Given the description of an element on the screen output the (x, y) to click on. 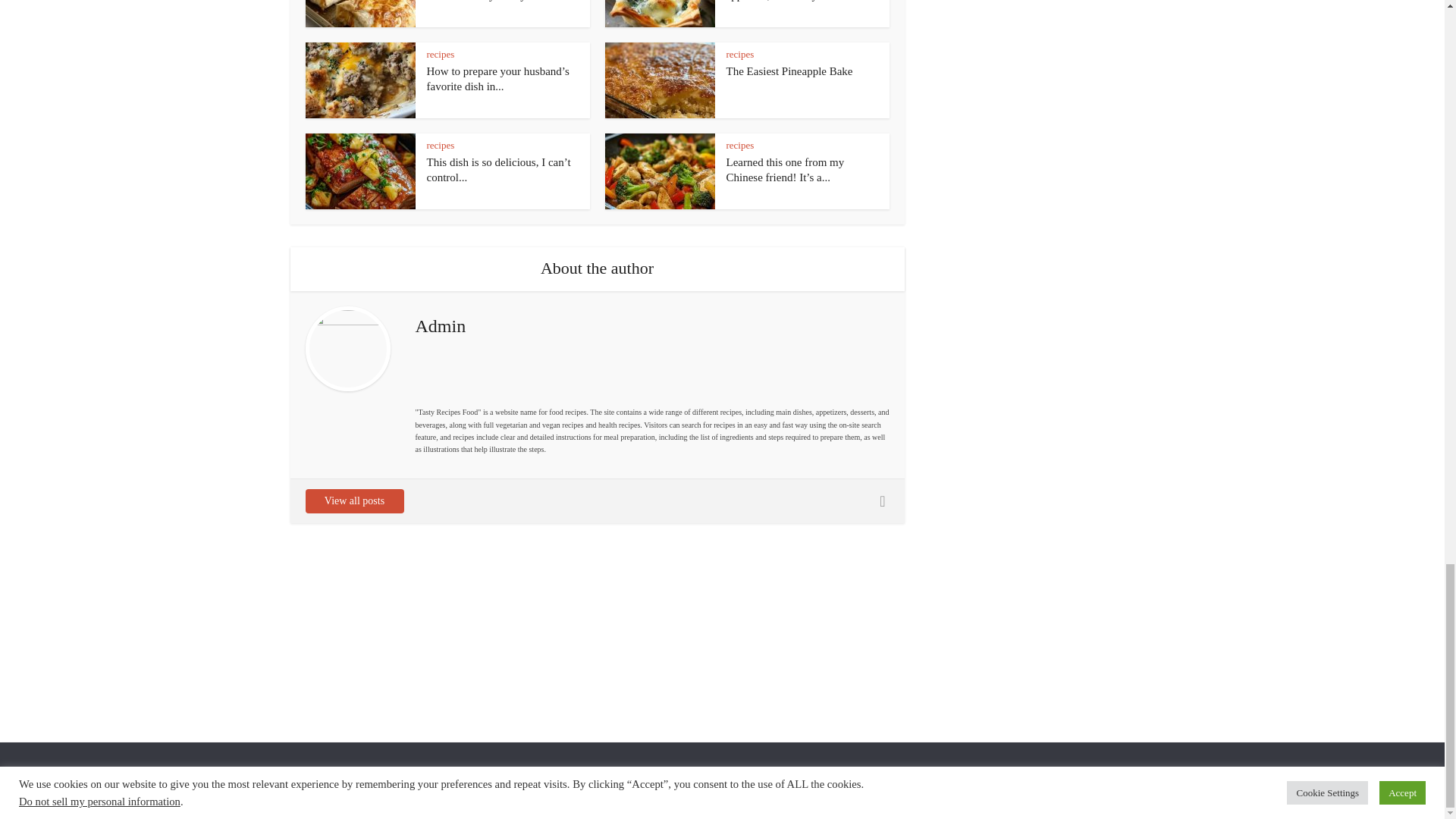
Love whipping up a bunch of these when my hubby and... (493, 0)
recipes (440, 53)
The Easiest Pineapple Bake (789, 70)
Brought this out as a party appetizer, and everyone... (786, 0)
The Easiest Pineapple Bake (789, 70)
recipes (740, 53)
